Given the description of an element on the screen output the (x, y) to click on. 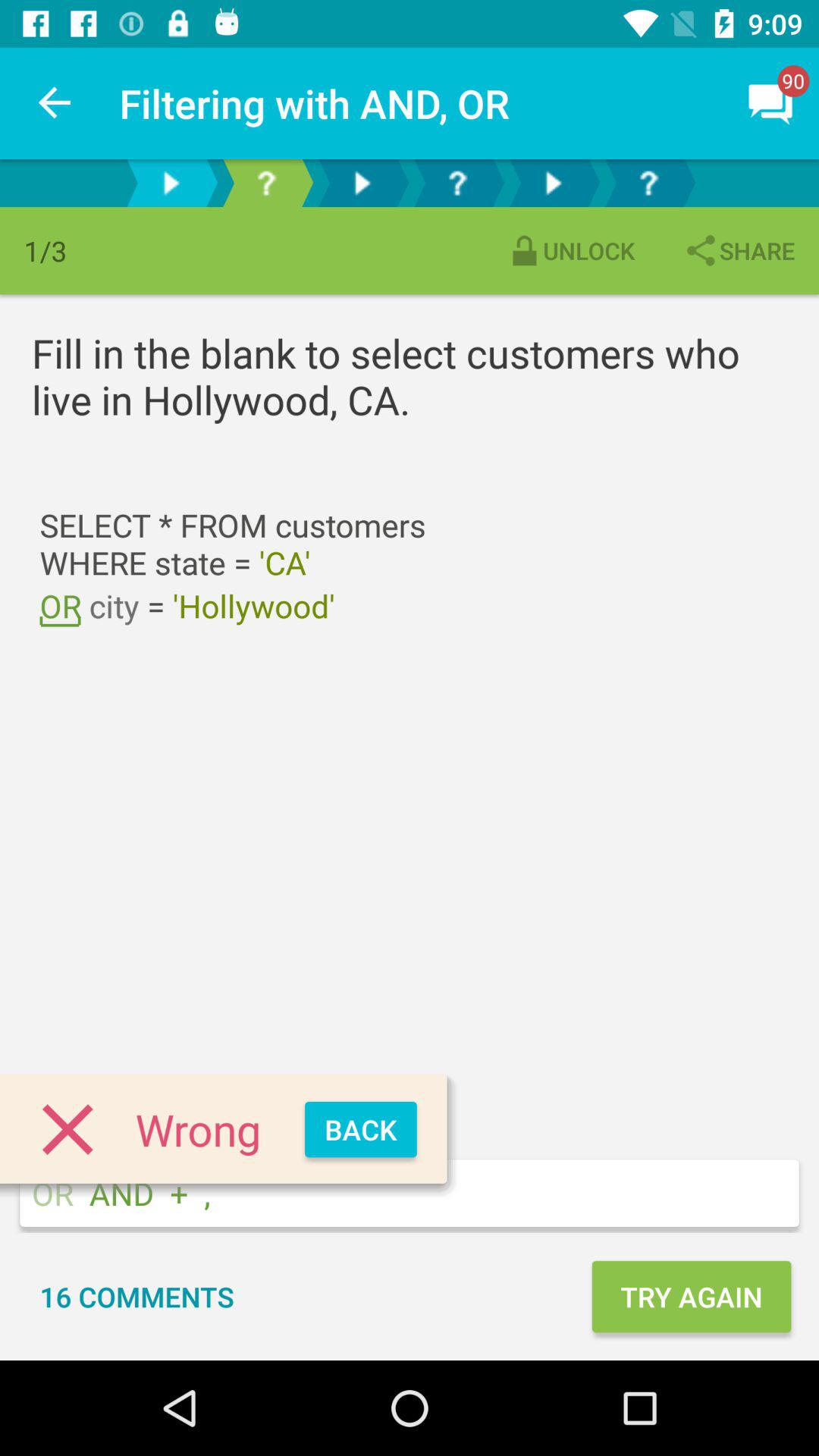
choose item next to wrong (360, 1129)
